Given the description of an element on the screen output the (x, y) to click on. 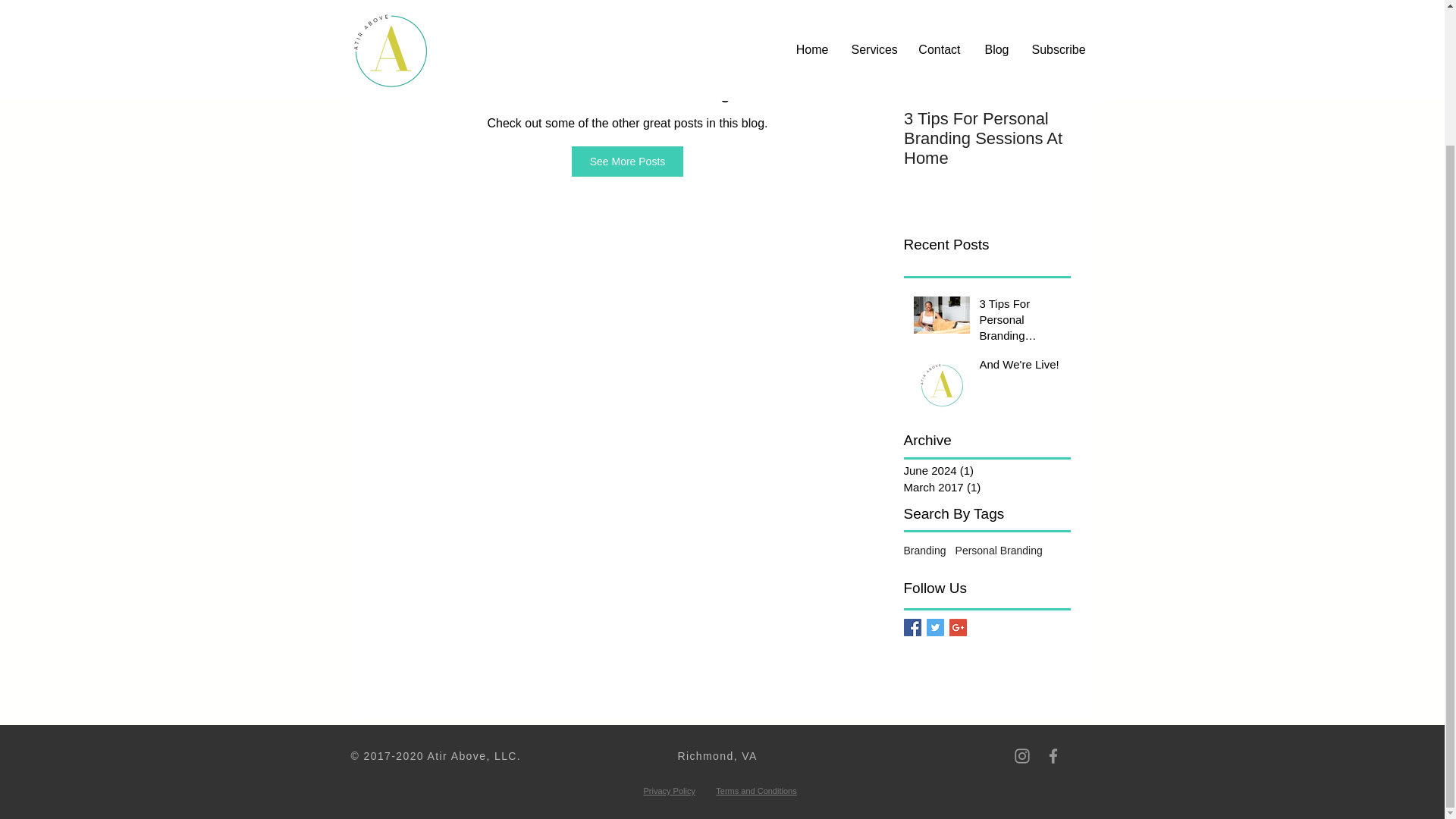
And We're Live! (1153, 118)
Personal Branding (998, 550)
See More Posts (628, 161)
Branding (925, 550)
Terms and Conditions (756, 790)
And We're Live! (1020, 367)
3 Tips For Personal Branding Sessions At Home (987, 138)
3 Tips For Personal Branding Sessions At Home (1020, 322)
Privacy Policy (668, 790)
